Given the description of an element on the screen output the (x, y) to click on. 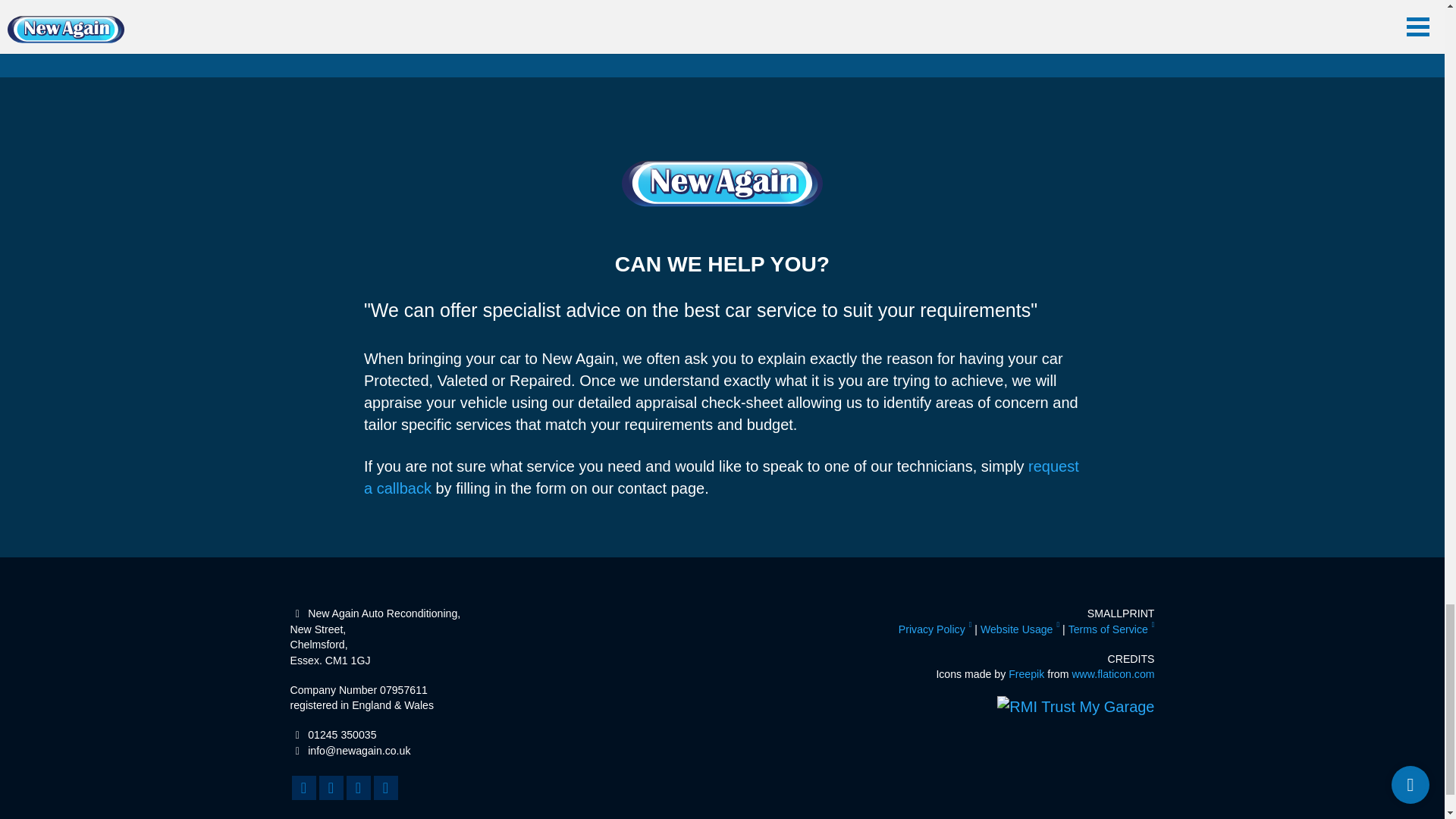
Facebook (303, 787)
YouTube (357, 787)
Instagram (330, 787)
Twitter (384, 787)
